Given the description of an element on the screen output the (x, y) to click on. 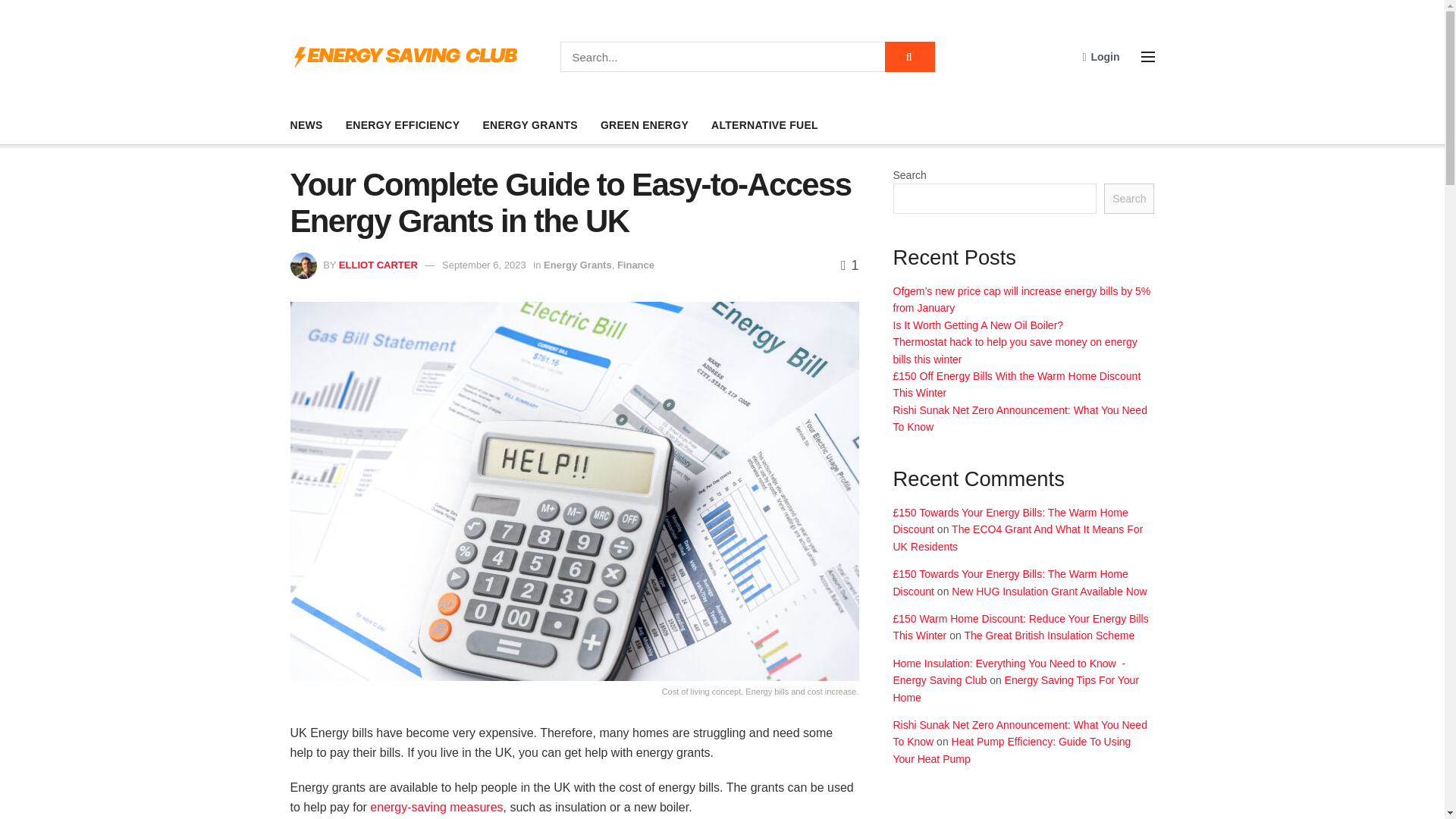
Energy Grants (577, 265)
Finance (635, 265)
September 6, 2023 (483, 265)
NEWS (305, 124)
1 (850, 264)
ELLIOT CARTER (378, 265)
ENERGY EFFICIENCY (403, 124)
ENERGY GRANTS (529, 124)
ALTERNATIVE FUEL (764, 124)
Login (1100, 56)
energy-saving measures (435, 807)
GREEN ENERGY (643, 124)
